Given the description of an element on the screen output the (x, y) to click on. 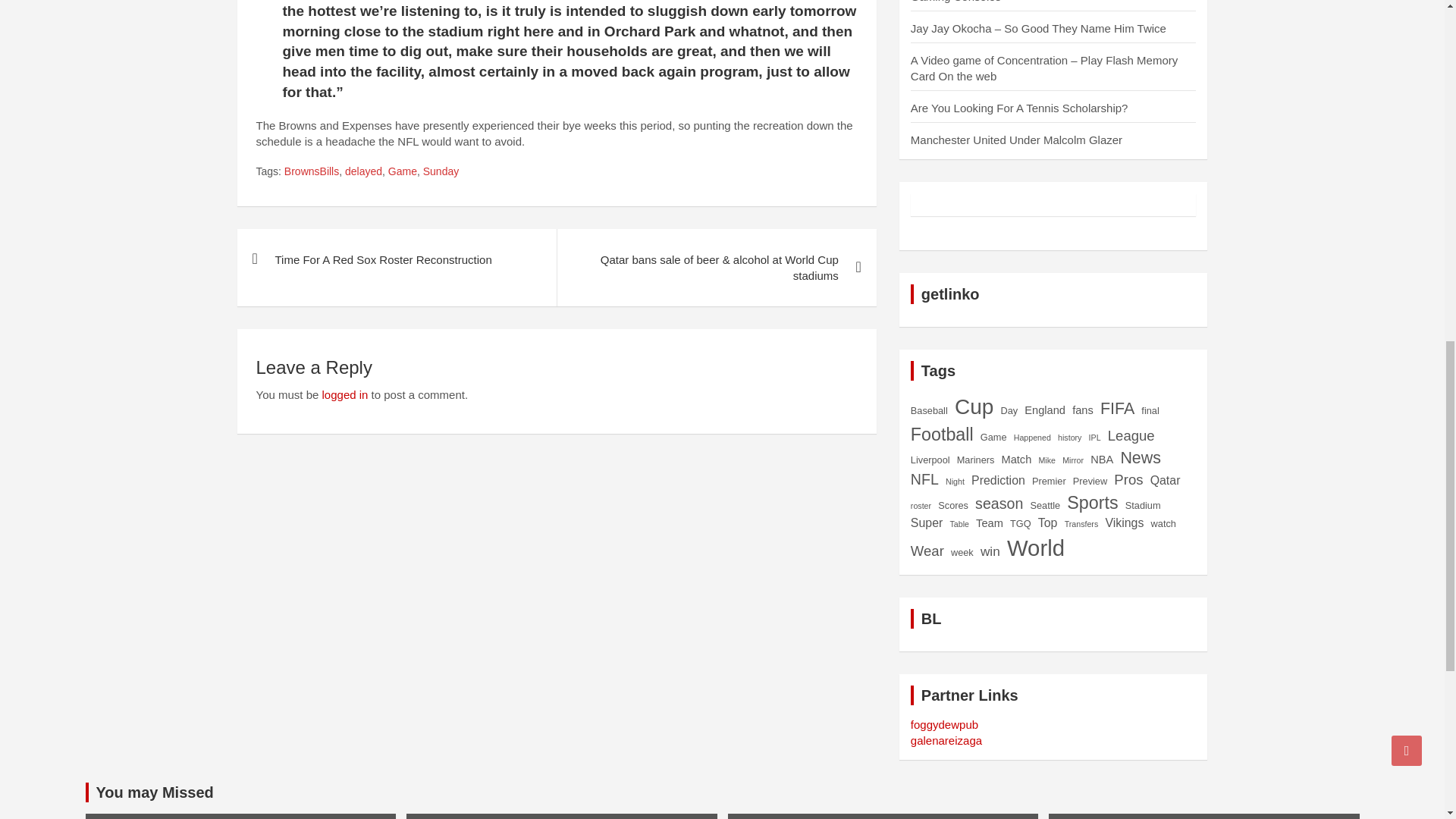
Game (402, 171)
Sunday (440, 171)
logged in (344, 394)
Are You Looking For A Tennis Scholarship? (1019, 107)
Time For A Red Sox Roster Reconstruction (395, 259)
delayed (363, 171)
BrownsBills (311, 171)
Baseball (929, 410)
Manchester United Under Malcolm Glazer (1016, 139)
